Given the description of an element on the screen output the (x, y) to click on. 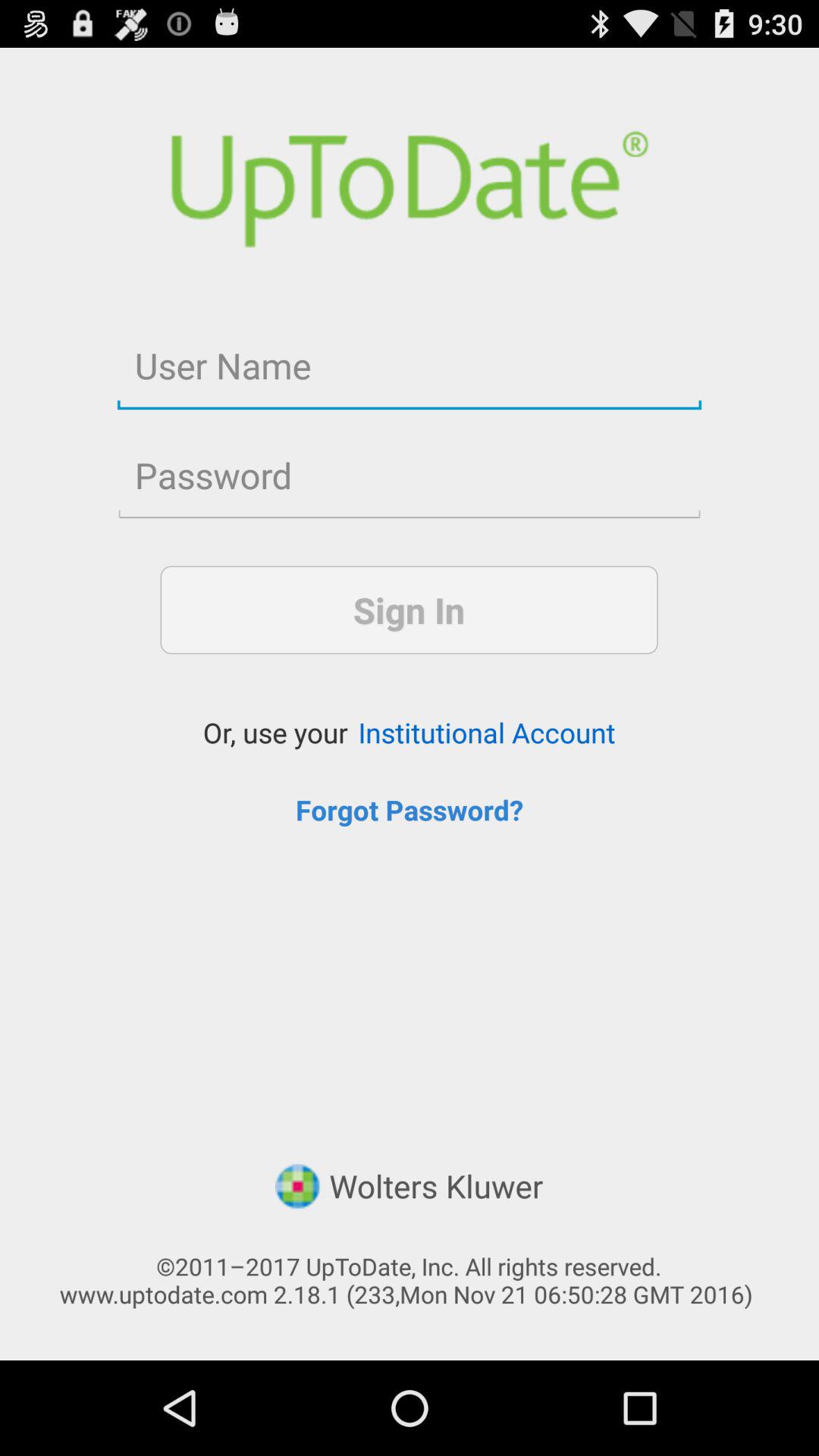
select the app above 2011 2017 uptodate item (409, 1187)
